Given the description of an element on the screen output the (x, y) to click on. 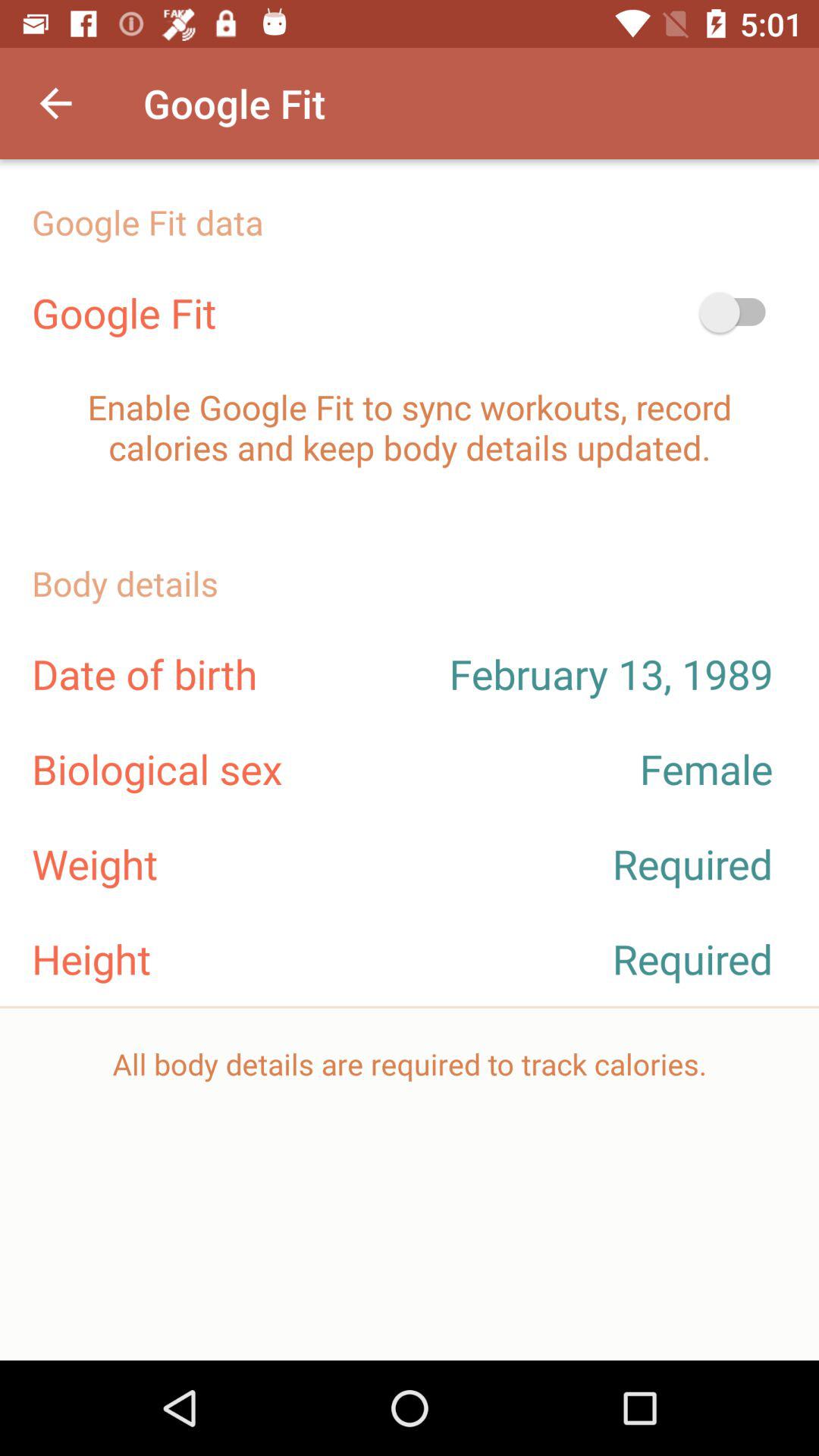
launch icon at the top right corner (739, 312)
